Given the description of an element on the screen output the (x, y) to click on. 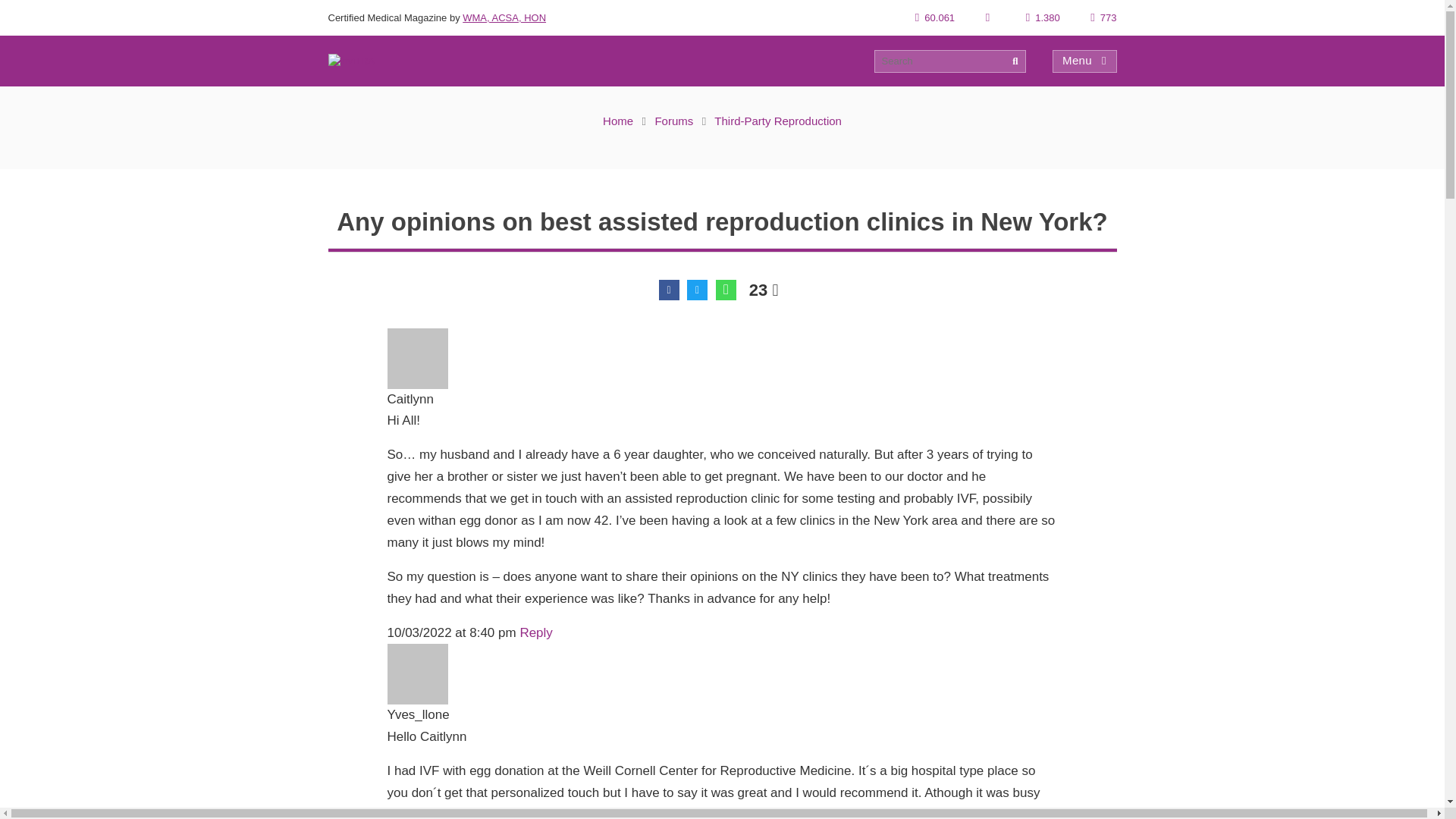
773 Followers on Instagram (1103, 17)
773 (1103, 17)
60.061 (935, 17)
Share in WhatsApp (726, 289)
60.061 Fans on Facebook (935, 17)
inviTRA (350, 60)
Menu (1084, 60)
Share in facebook (669, 289)
Share in Twitter (697, 289)
1.380 Subscribed on Youtube (1042, 17)
